Given the description of an element on the screen output the (x, y) to click on. 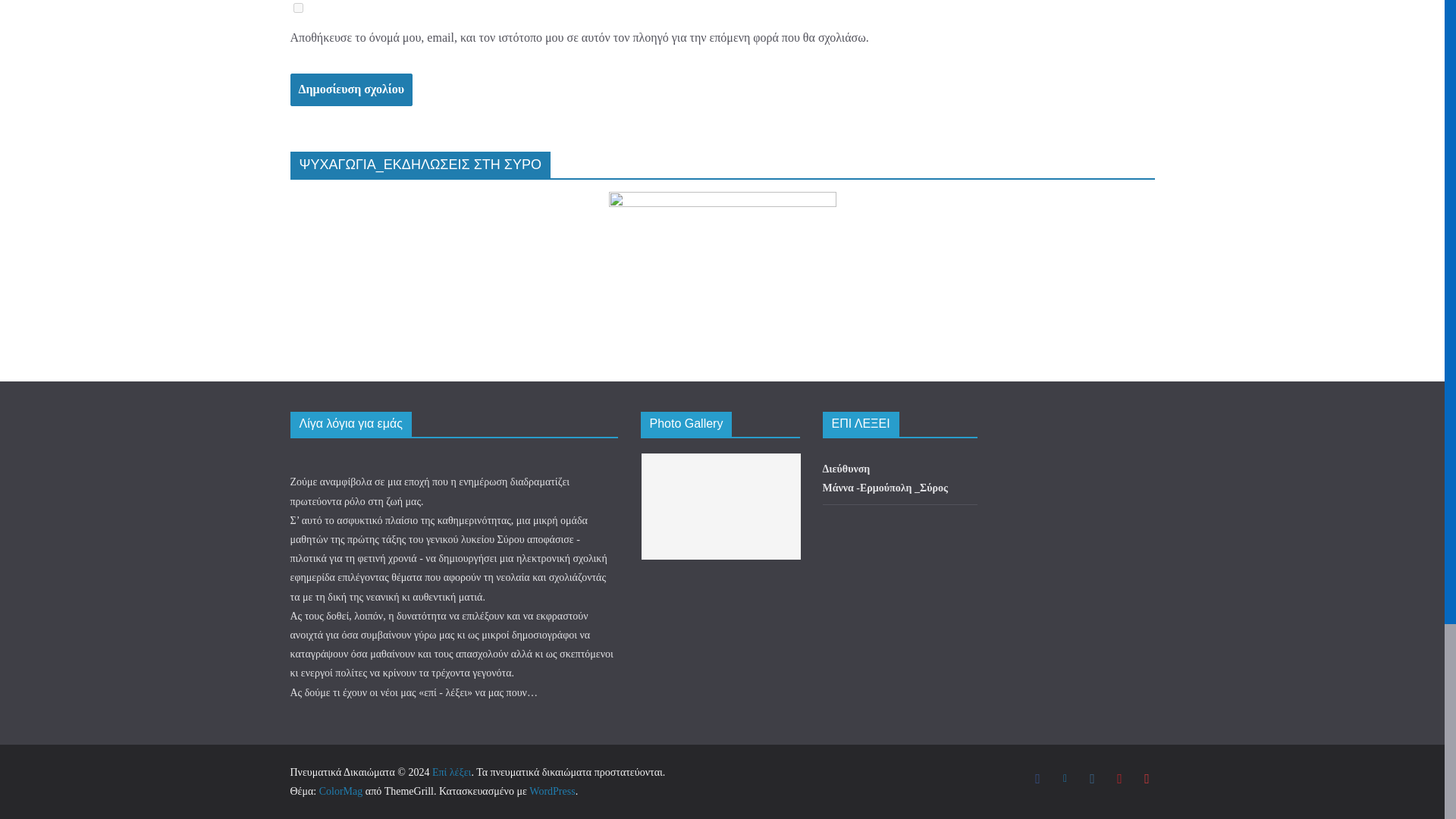
yes (297, 8)
